Given the description of an element on the screen output the (x, y) to click on. 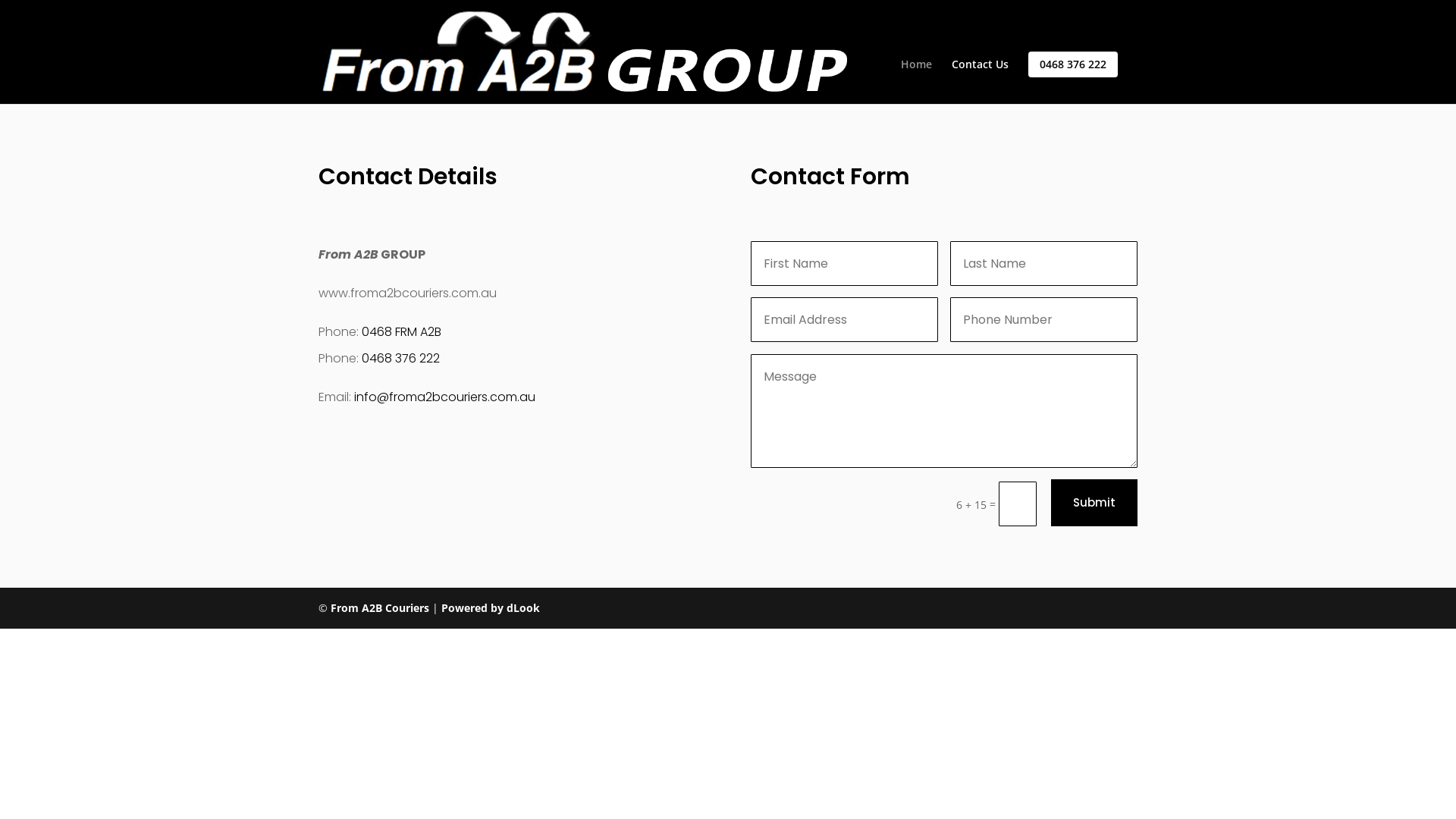
Submit Element type: text (1094, 503)
Contact Us Element type: text (979, 81)
info@froma2bcouriers.com.au Element type: text (444, 396)
0468 376 222 Element type: text (400, 358)
Home Element type: text (915, 81)
Powered by dLook Element type: text (490, 607)
0468 376 222 Element type: text (1072, 64)
0468 FRM A2B Element type: text (401, 331)
